Given the description of an element on the screen output the (x, y) to click on. 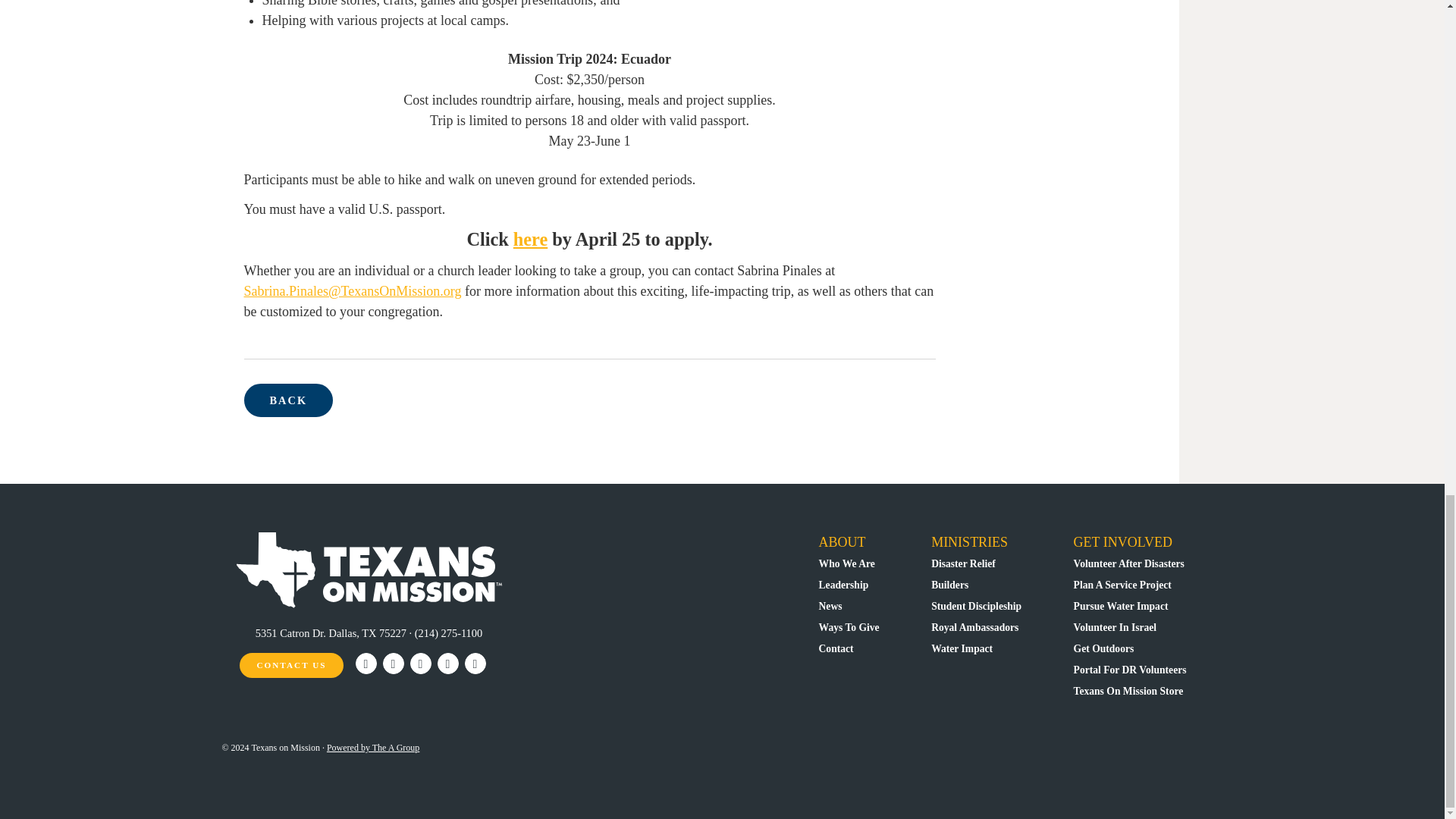
here (530, 239)
Ways To Give (848, 627)
Leadership (843, 584)
Contact (835, 648)
ABOUT (842, 541)
Who We Are (846, 563)
News (830, 605)
BACK (288, 400)
